Given the description of an element on the screen output the (x, y) to click on. 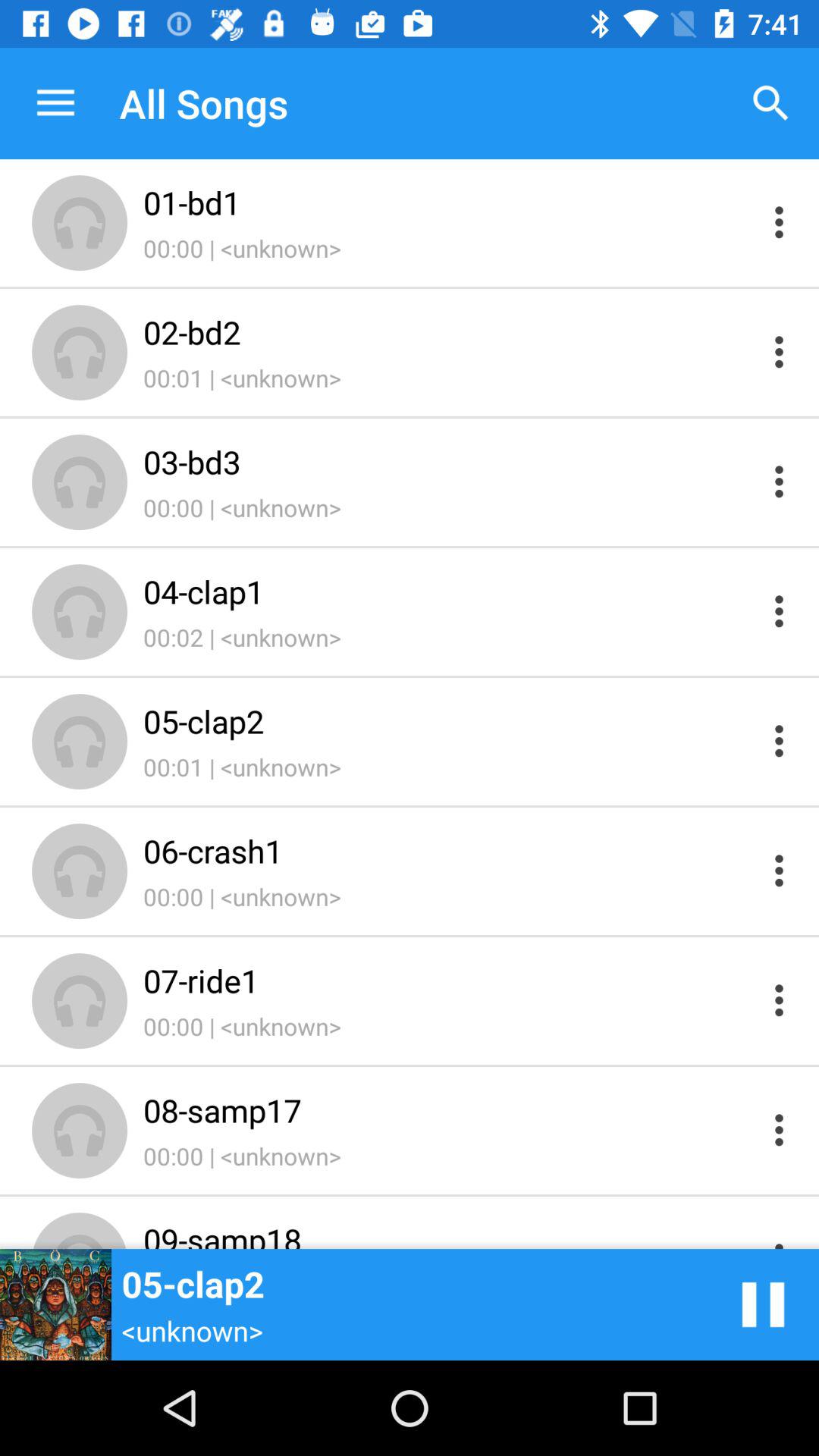
open menu (779, 1129)
